Given the description of an element on the screen output the (x, y) to click on. 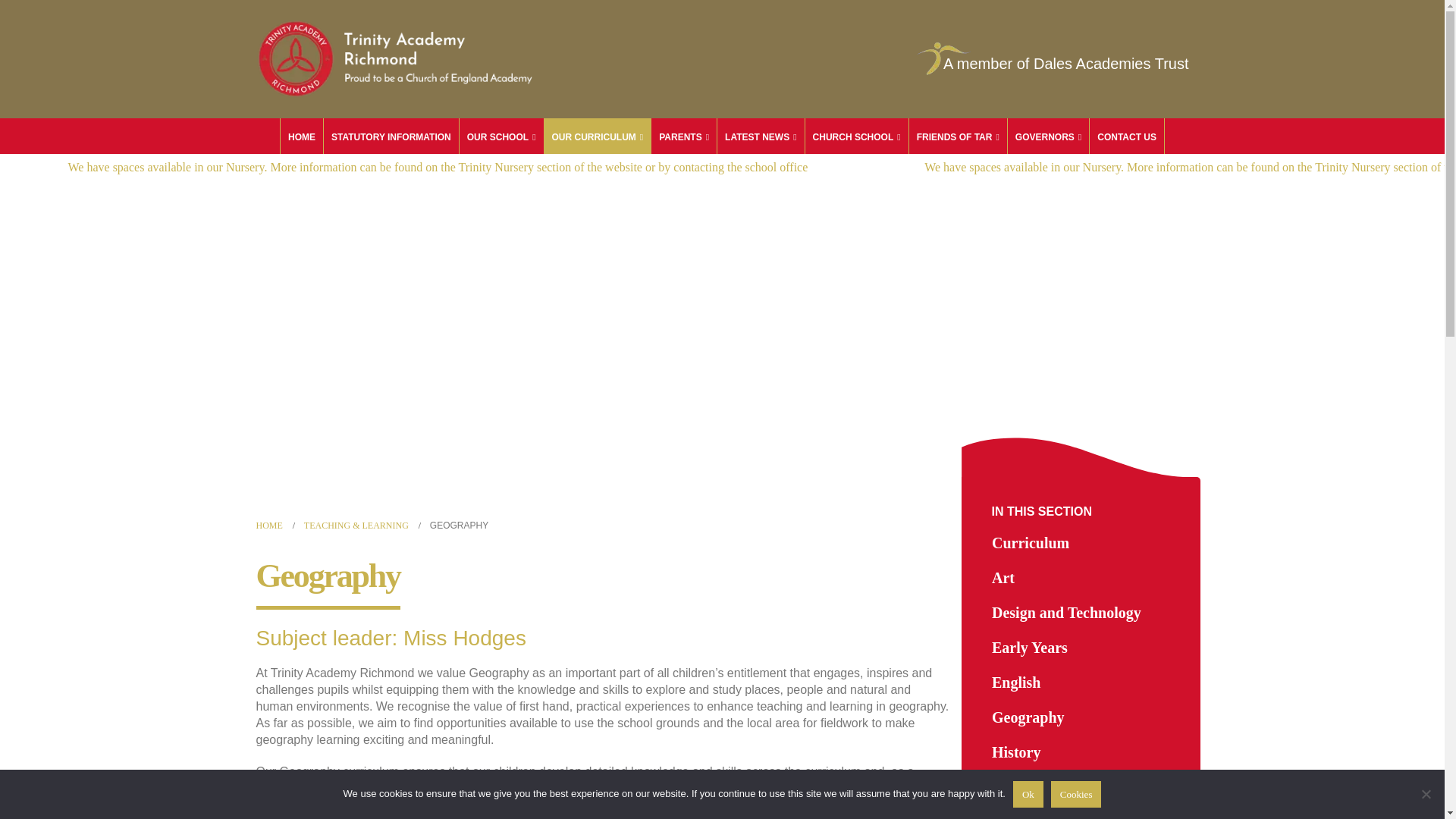
OUR SCHOOL (501, 135)
OUR CURRICULUM (597, 135)
Go to Home Page (269, 524)
STATUTORY INFORMATION (390, 135)
HOME (302, 135)
